Given the description of an element on the screen output the (x, y) to click on. 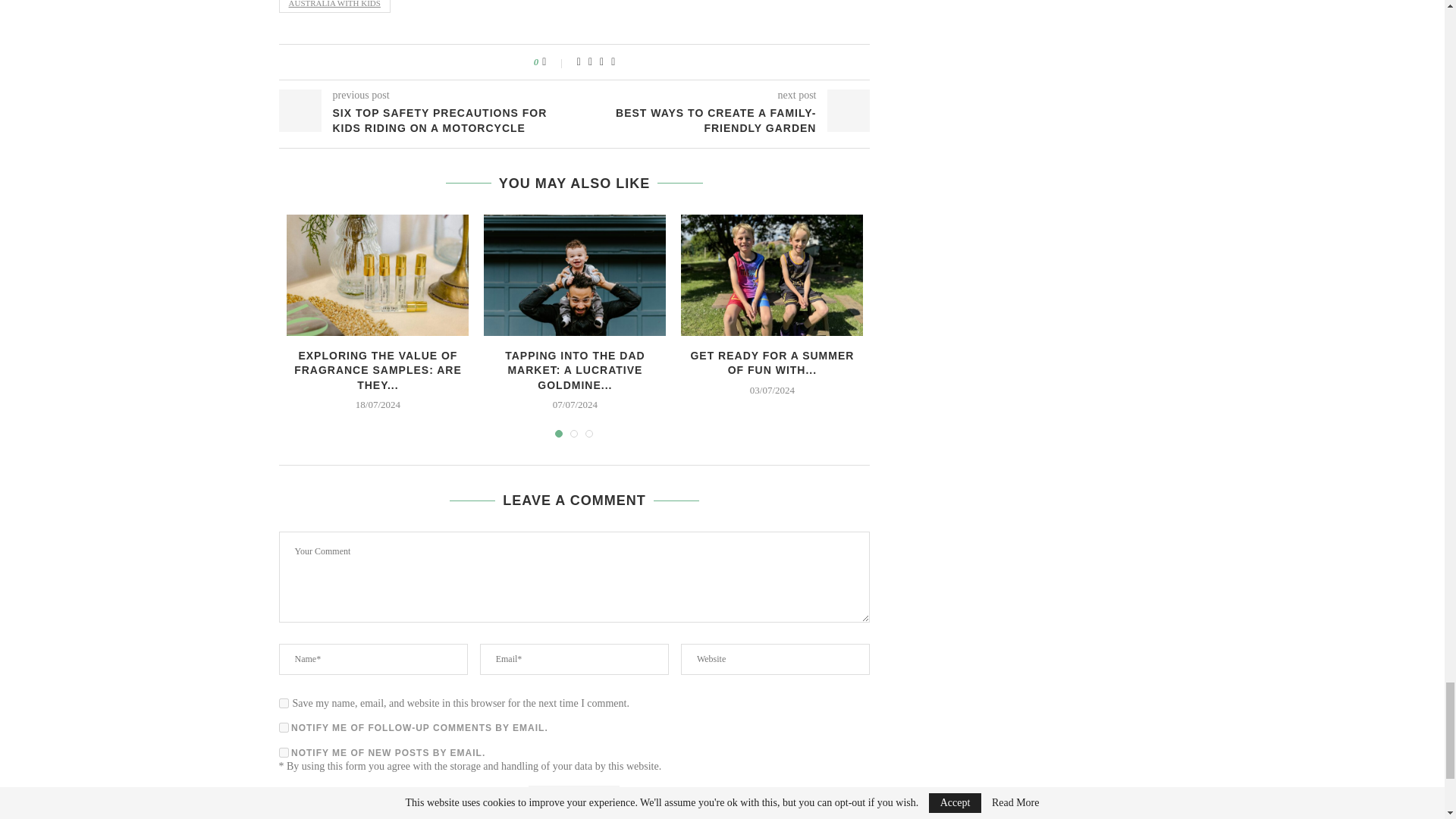
yes (283, 703)
Submit (574, 800)
subscribe (283, 752)
subscribe (283, 727)
